Given the description of an element on the screen output the (x, y) to click on. 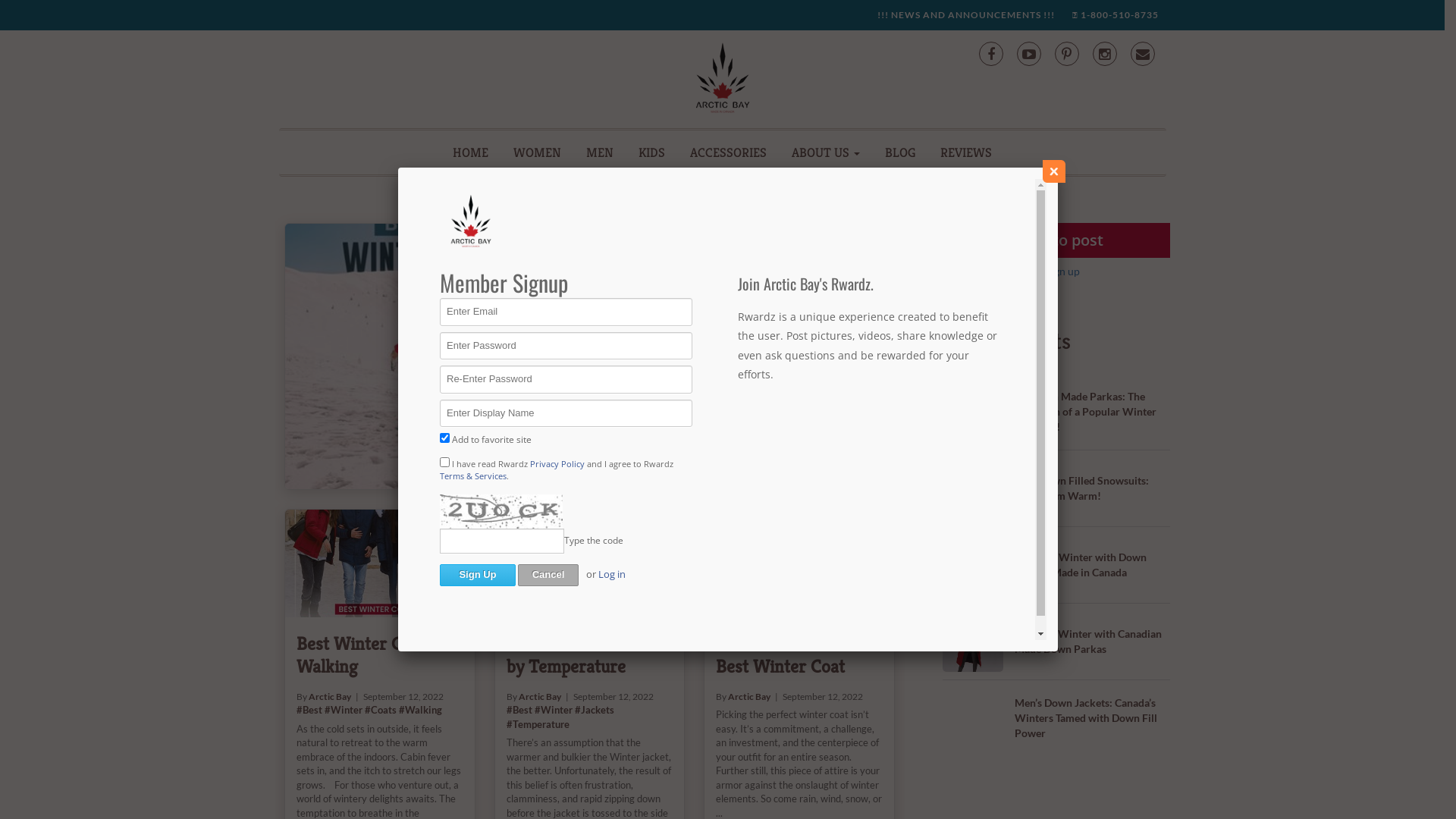
#Jackets Element type: text (770, 293)
#Winter Element type: text (553, 709)
Close Element type: hover (1053, 171)
#Winter Element type: text (729, 293)
Arctic Bay on YouTube Element type: hover (1028, 53)
Email Arctic Bay Element type: hover (1141, 53)
Best Winter Coats for Walking Element type: text (378, 654)
How to Choose the Best Winter Coat Element type: hover (799, 563)
#Temperature Element type: text (537, 724)
Embrace Winter with Down Jackets Made in Canada Element type: text (1080, 564)
#Luxury Element type: text (689, 293)
#Winter Element type: text (343, 709)
Arctic Bay on Facebook Element type: hover (990, 53)
HOME Element type: text (470, 152)
Sign up Element type: text (1061, 270)
WOMEN Element type: text (537, 152)
!!! NEWS AND ANNOUNCEMENTS !!! Element type: text (965, 15)
Read more... Element type: text (670, 389)
Conquer Winter with Canadian Made Down Parkas Element type: text (1087, 641)
Best Luxury Winter Jackets Element type: text (745, 249)
#Walking Element type: text (420, 709)
Arctic Bay Element type: text (676, 279)
KIDS Element type: text (651, 152)
REVIEWS Element type: text (965, 152)
Login to post Element type: text (1055, 239)
Arctic Bay on Instagram Element type: hover (1104, 53)
Arctic Bay Element type: text (749, 696)
#Coats Element type: text (380, 709)
MEN Element type: text (599, 152)
Best Winter Coats for Walking Element type: hover (379, 563)
Best Winter Jackets by Temperature Element type: text (580, 654)
Arctic Bay Element type: text (539, 696)
Kids Down Filled Snowsuits: Keep them Warm! Element type: text (1081, 487)
ABOUT US Element type: text (825, 152)
#Best Element type: text (309, 709)
Arctic Bay Element type: text (329, 696)
#Best Element type: text (656, 293)
#Best Element type: text (519, 709)
How to Choose the Best Winter Coat Element type: text (786, 654)
Arctic Bay on Pinterest Element type: hover (1066, 53)
Best Luxury Winter Jackets Element type: hover (458, 356)
ACCESSORIES Element type: text (728, 152)
BLOG Element type: text (899, 152)
Best Winter Jackets by Temperature Element type: hover (589, 563)
#Jackets Element type: text (594, 709)
